Given the description of an element on the screen output the (x, y) to click on. 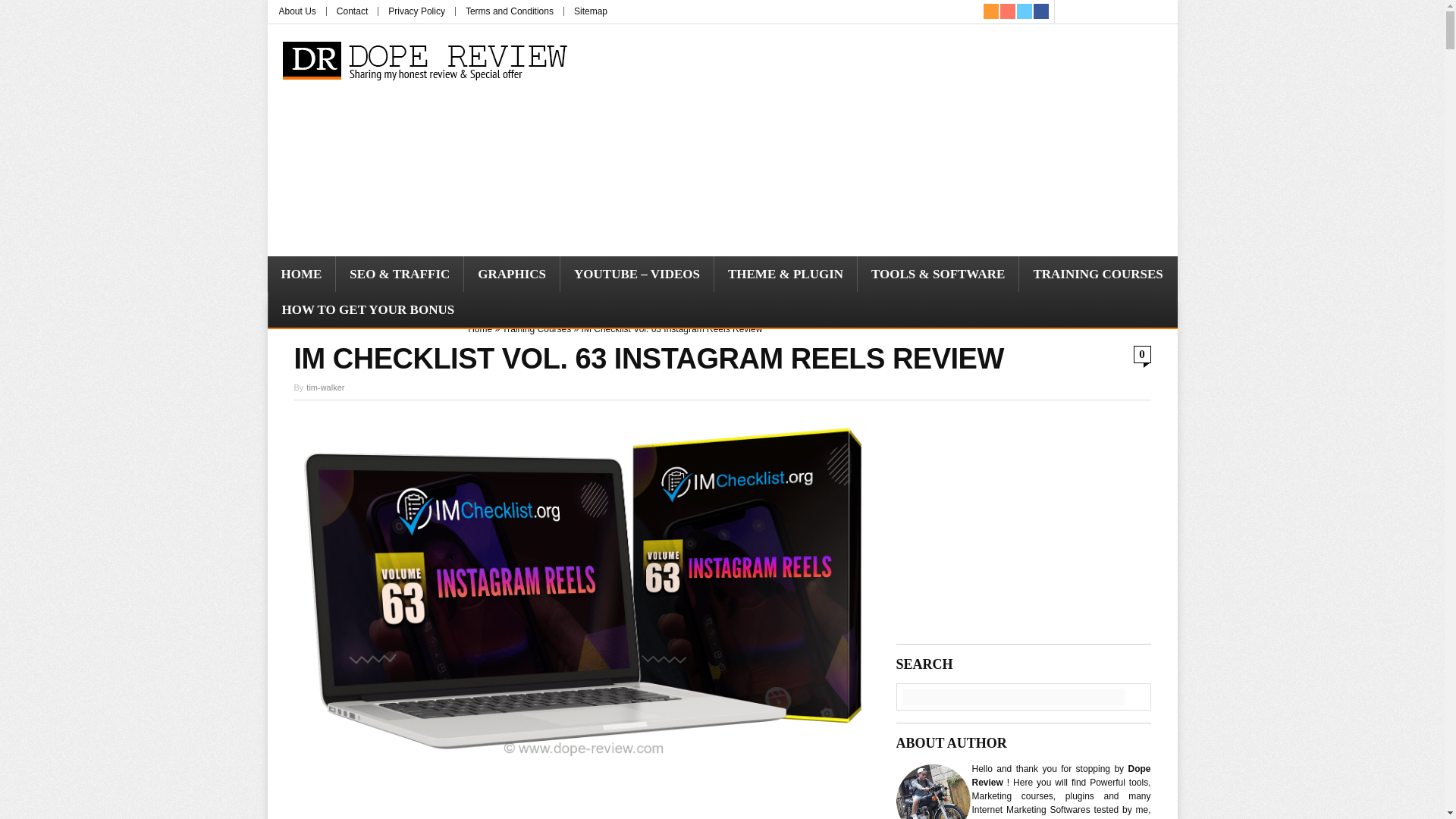
Training Courses (536, 328)
0 (1141, 354)
Advertisement (893, 140)
Advertisement (584, 795)
GRAPHICS (511, 273)
TRAINING COURSES (1097, 273)
Advertisement (1023, 525)
Sitemap (590, 10)
tim-walker (324, 387)
HOW TO GET YOUR BONUS (367, 309)
Terms and Conditions (509, 10)
Contact (352, 10)
About Us (297, 10)
Home (479, 328)
HOME (300, 273)
